Given the description of an element on the screen output the (x, y) to click on. 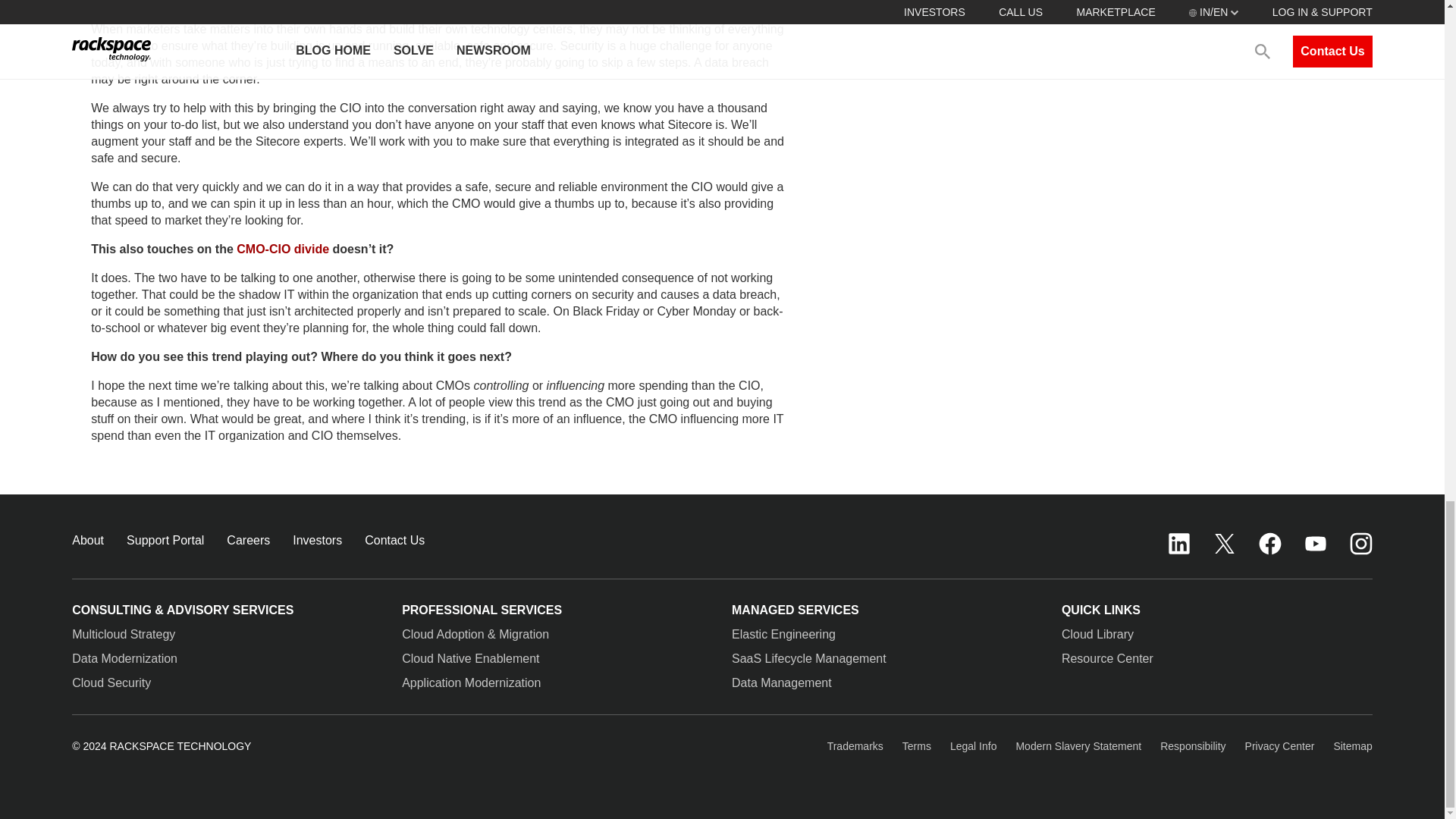
CMO-CIO divide (282, 248)
